Given the description of an element on the screen output the (x, y) to click on. 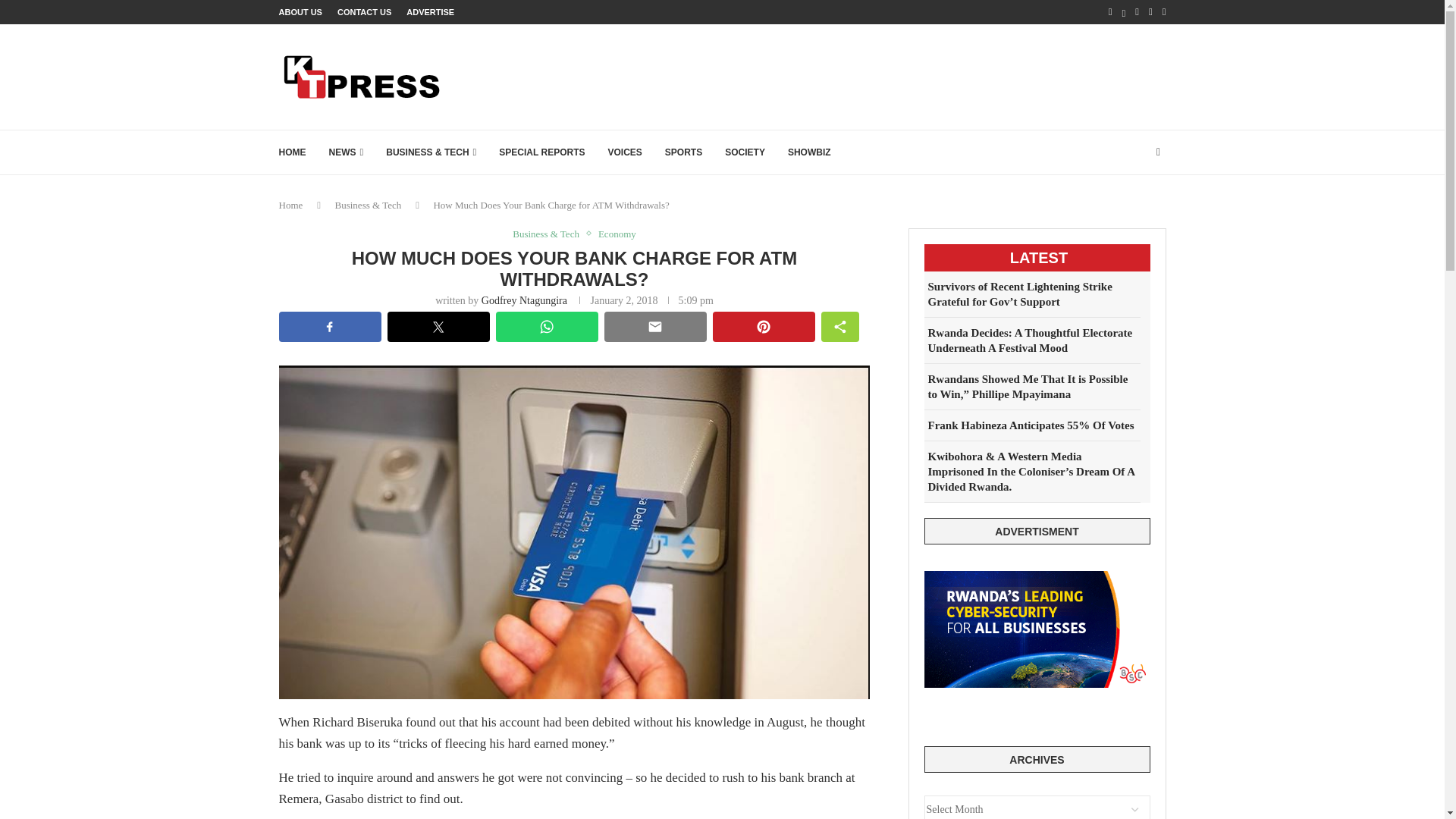
ABOUT US (300, 12)
SPECIAL REPORTS (542, 152)
SHOWBIZ (809, 152)
Godfrey Ntagungira (524, 300)
Godfrey Ntagungira (524, 300)
Home (290, 204)
CONTACT US (364, 12)
SOCIETY (745, 152)
ADVERTISE (430, 12)
Economy (617, 234)
